Given the description of an element on the screen output the (x, y) to click on. 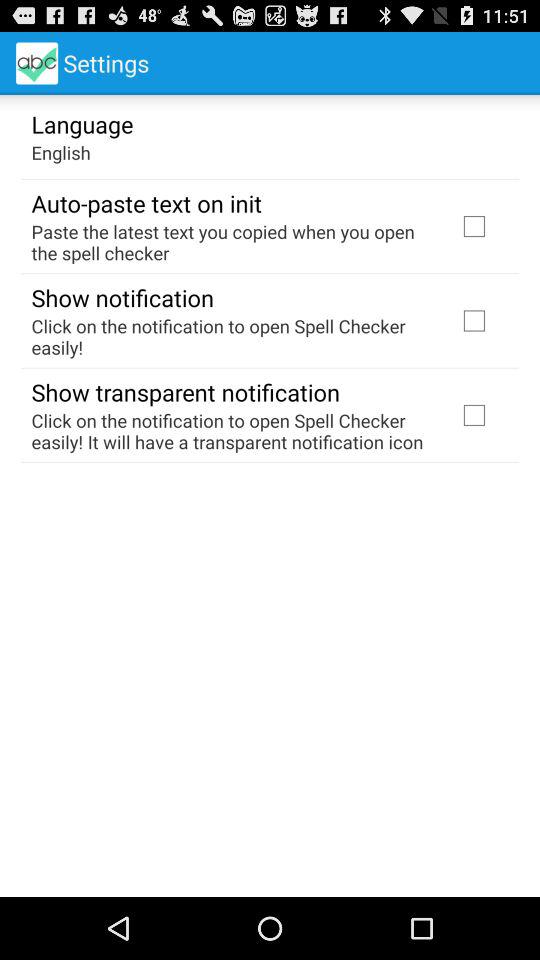
flip to the language app (82, 123)
